Given the description of an element on the screen output the (x, y) to click on. 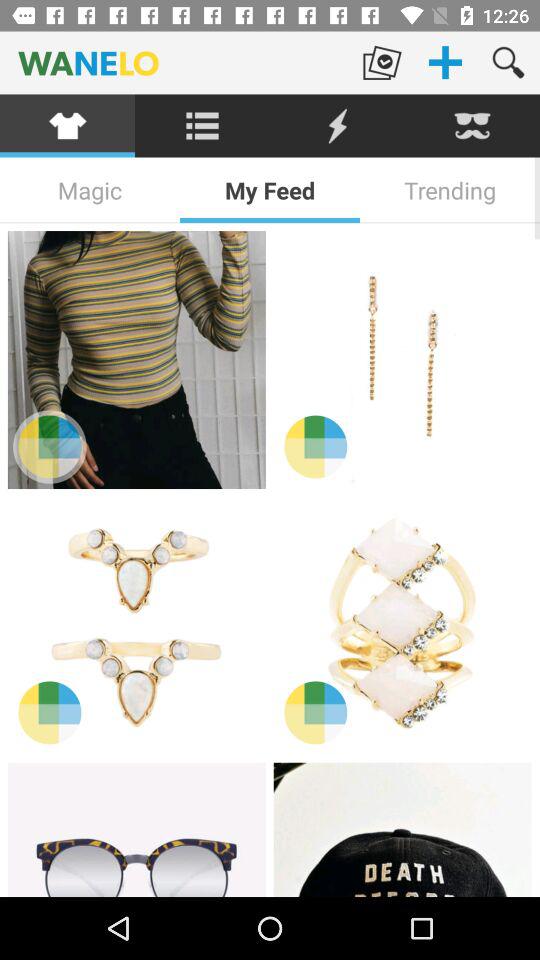
select the item (136, 625)
